Given the description of an element on the screen output the (x, y) to click on. 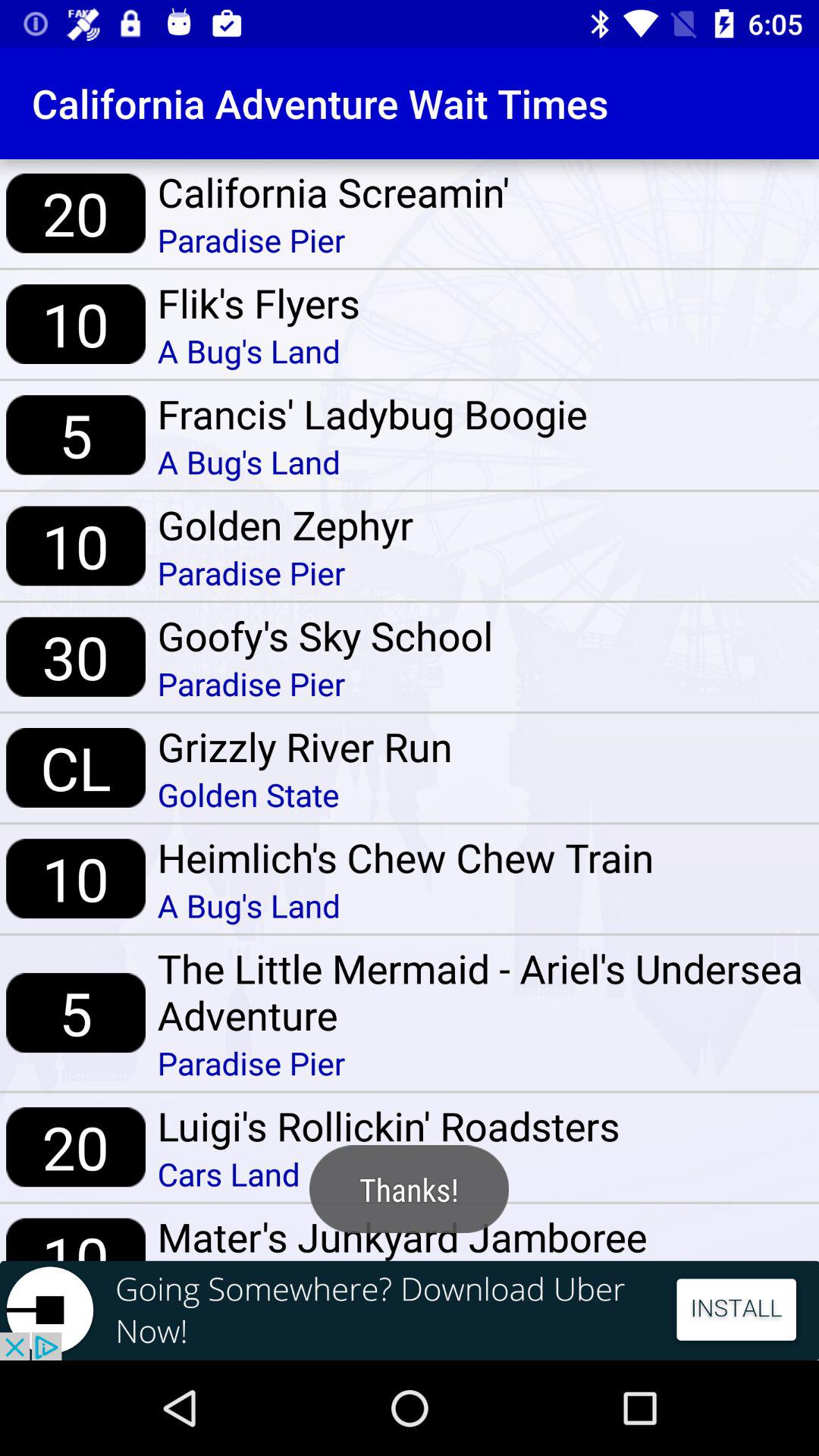
launch item above cl (75, 656)
